Given the description of an element on the screen output the (x, y) to click on. 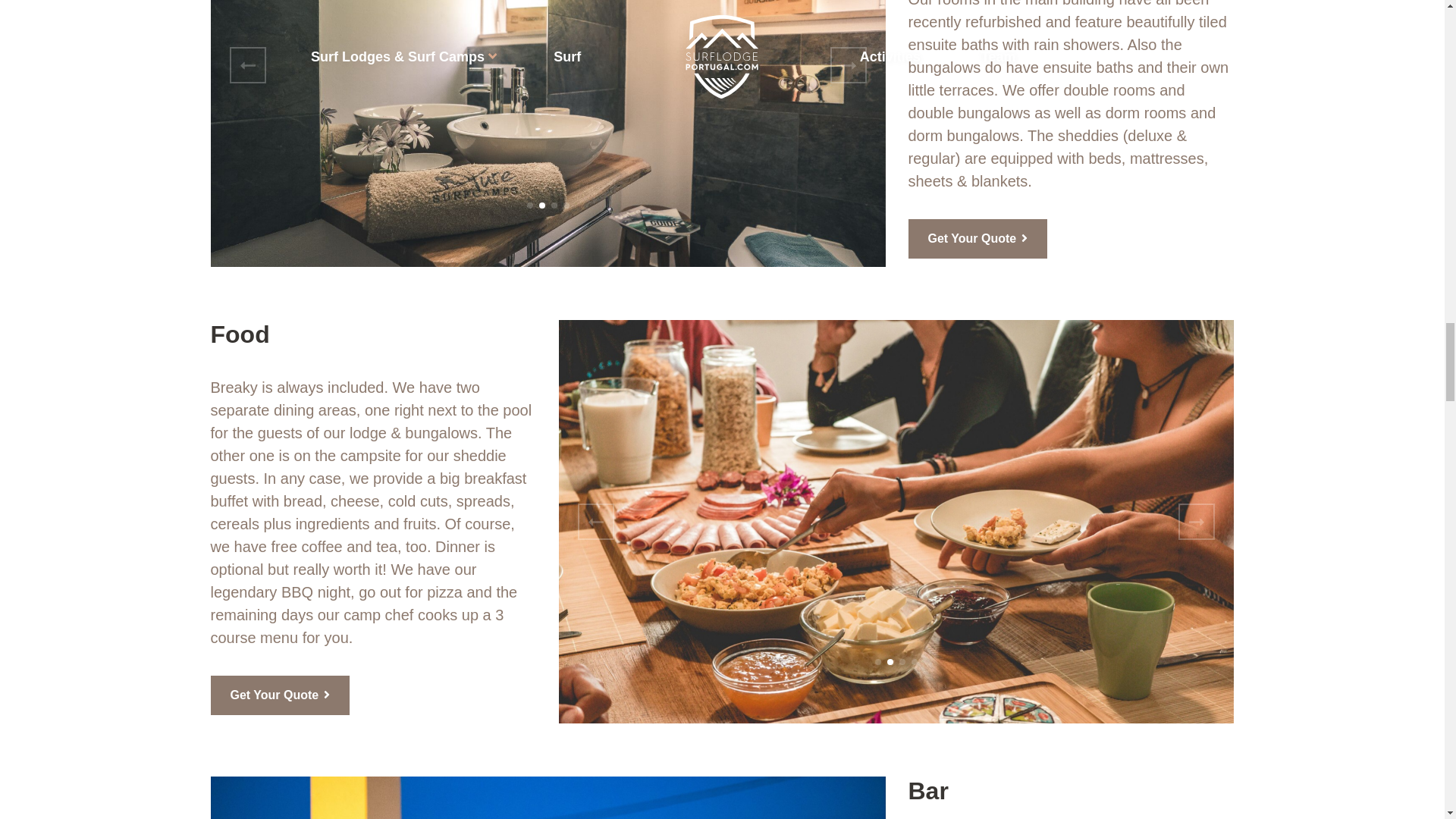
Get Your Quote (280, 694)
Get Your Quote (978, 238)
Get Your Quote (280, 694)
Get Your Quote (978, 238)
